Given the description of an element on the screen output the (x, y) to click on. 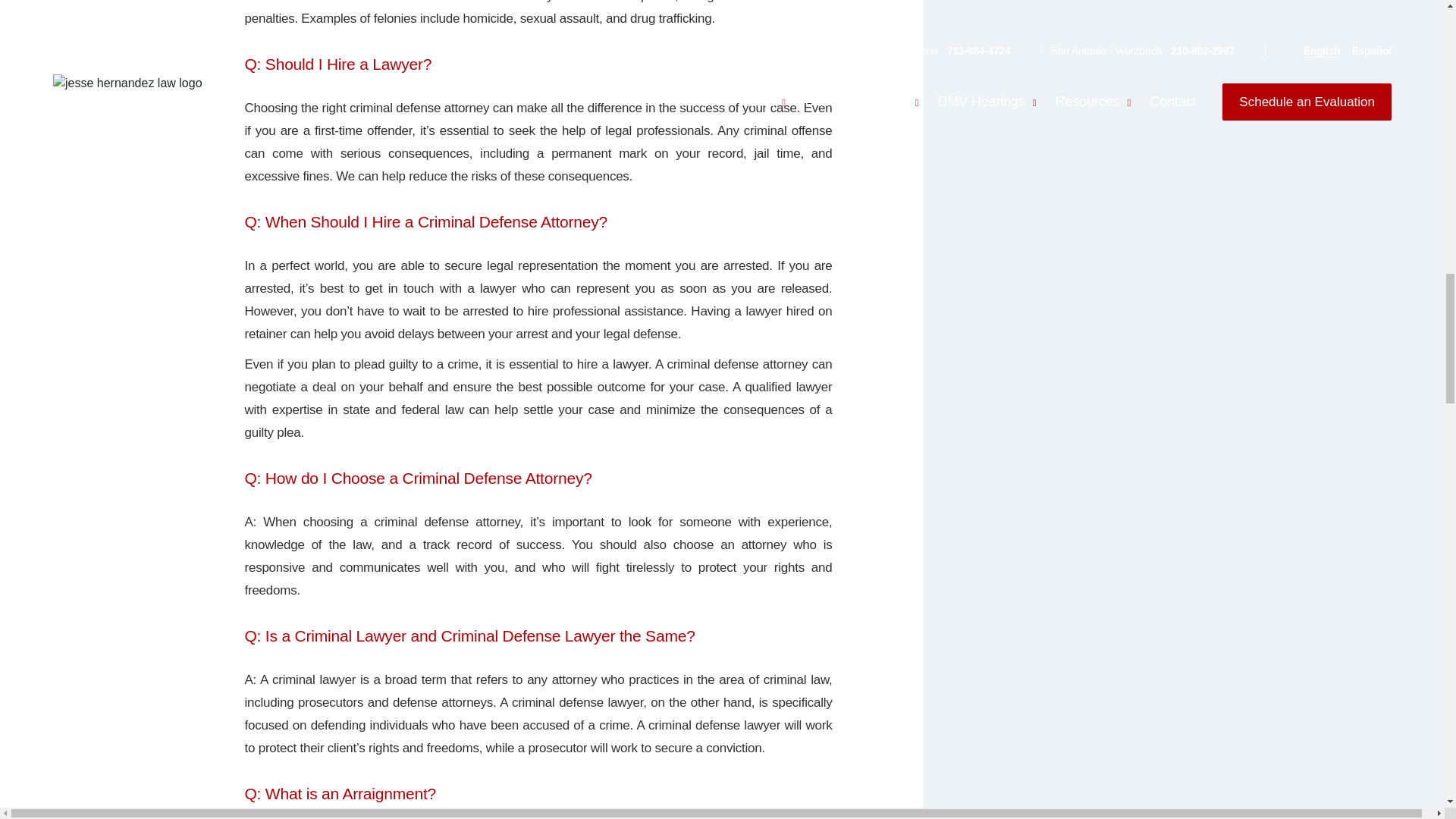
criminal defense attorney (446, 522)
